Given the description of an element on the screen output the (x, y) to click on. 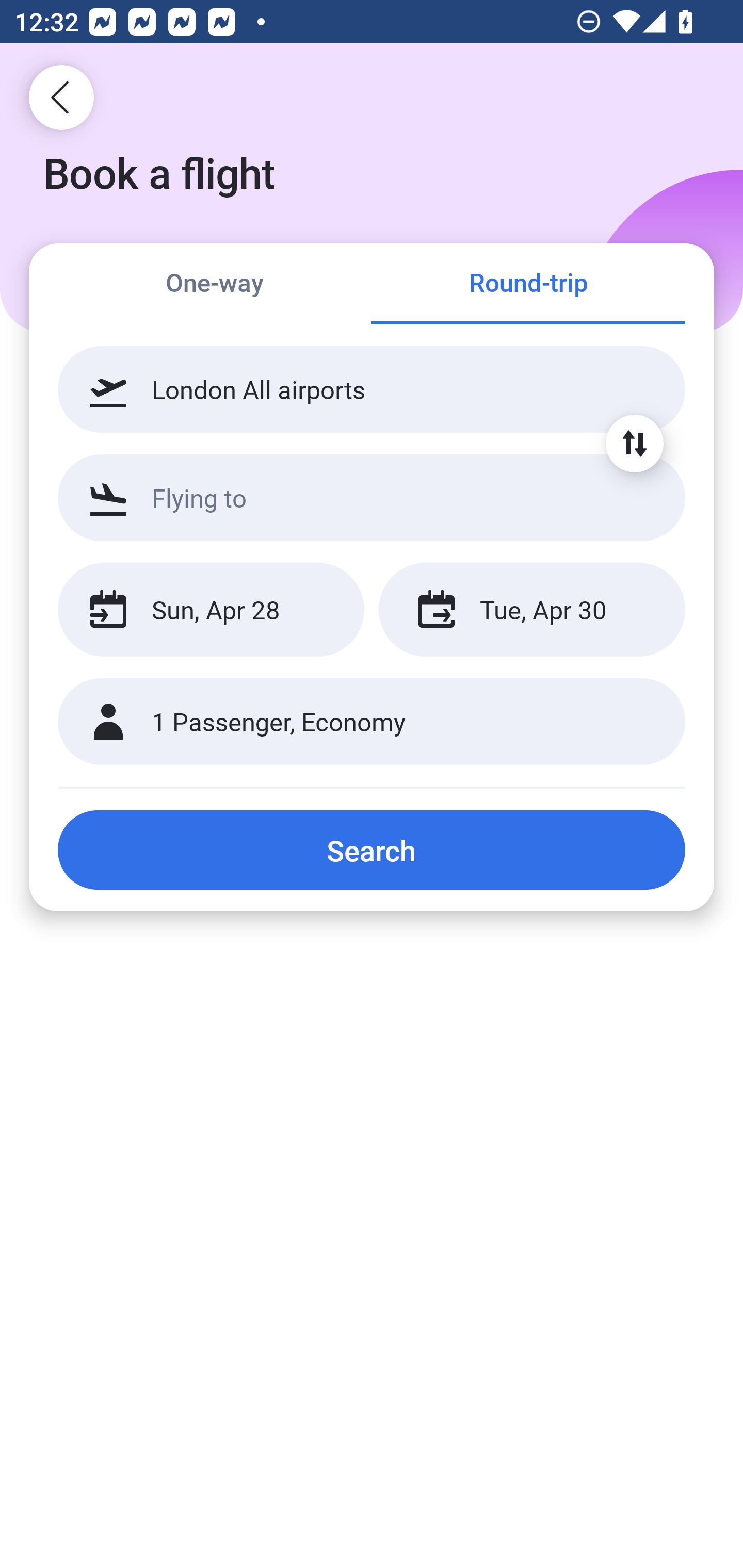
One-way (214, 284)
London All airports (371, 389)
Flying to (371, 497)
Sun, Apr 28 (210, 609)
Tue, Apr 30 (531, 609)
1 Passenger, Economy (371, 721)
Search (371, 849)
